Given the description of an element on the screen output the (x, y) to click on. 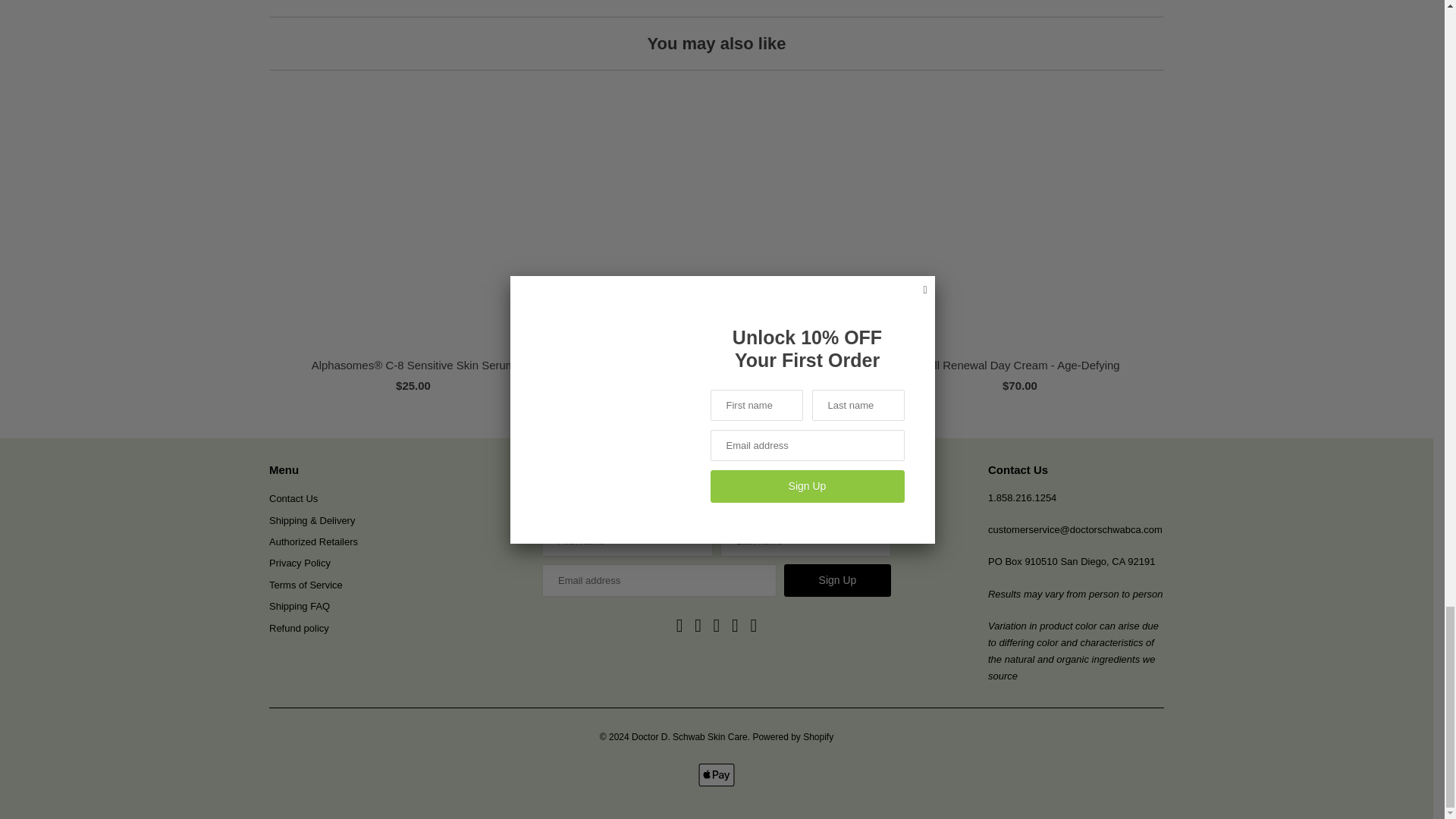
Apple Pay (716, 774)
Sign Up (837, 580)
